Given the description of an element on the screen output the (x, y) to click on. 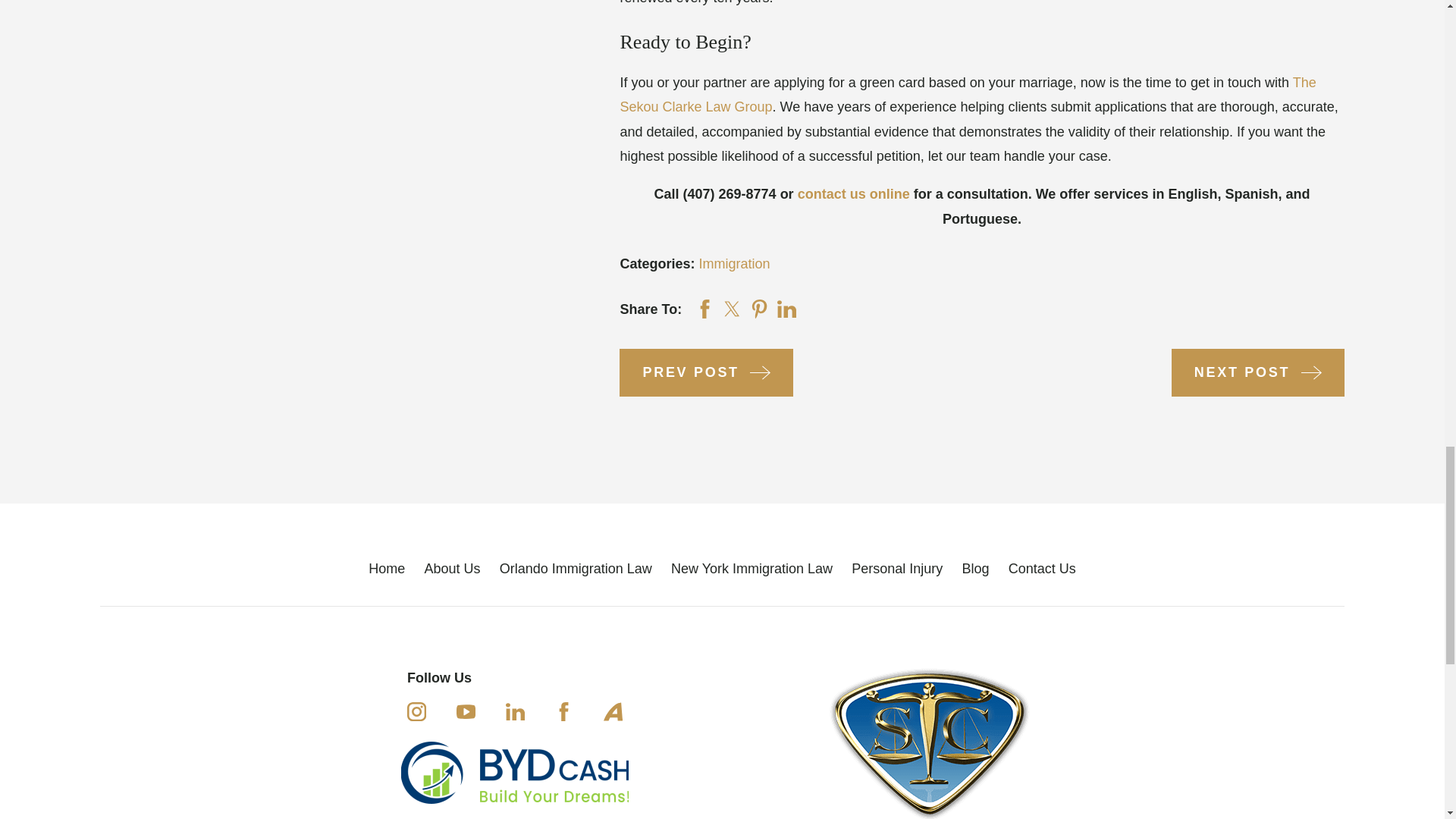
Instagram (416, 711)
Avvo (613, 711)
YouTube (466, 711)
LinkedIn (514, 711)
Facebook (563, 711)
